Given the description of an element on the screen output the (x, y) to click on. 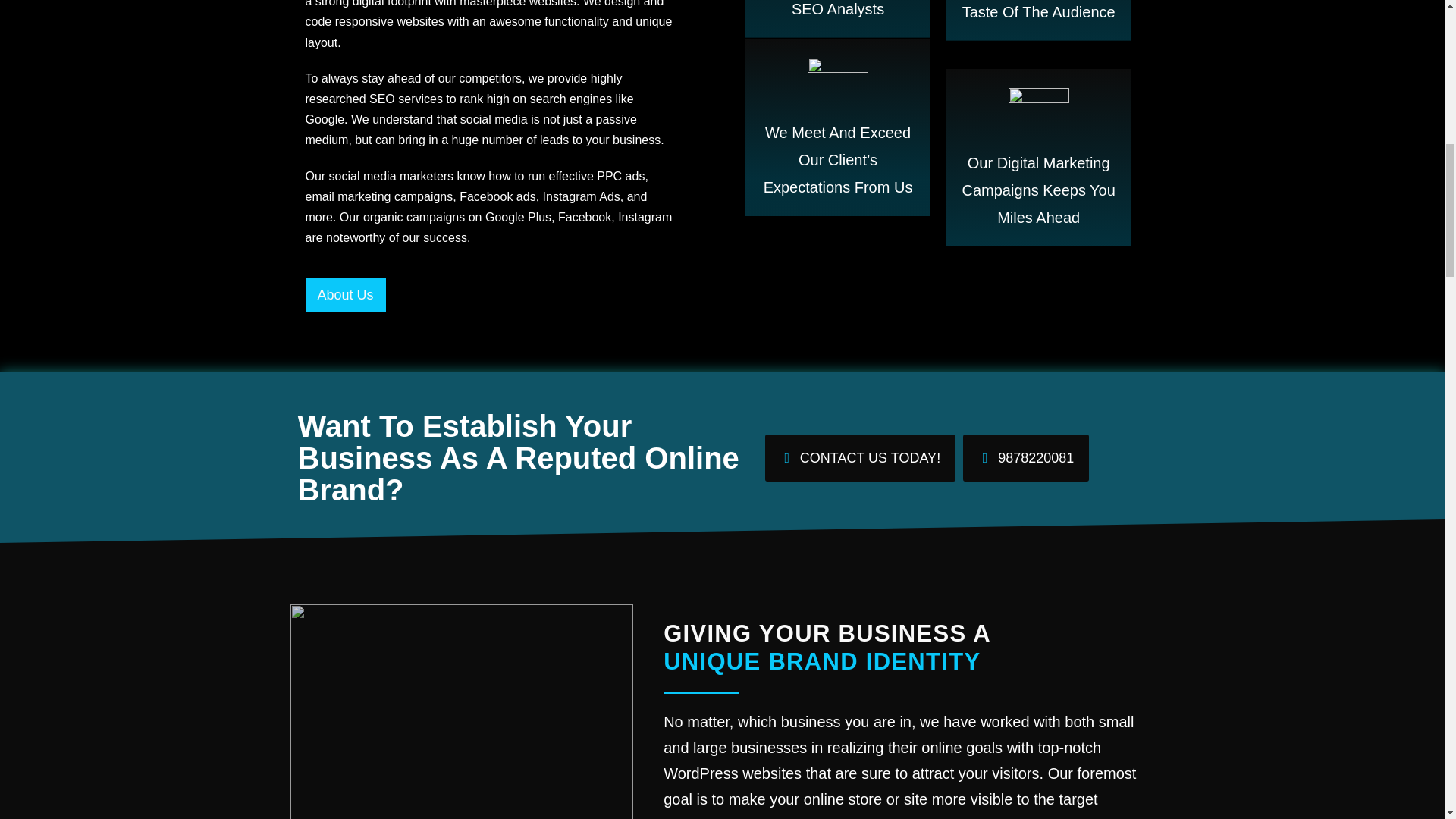
9878220081 (1025, 457)
About Us (344, 295)
CONTACT US TODAY! (860, 457)
